Given the description of an element on the screen output the (x, y) to click on. 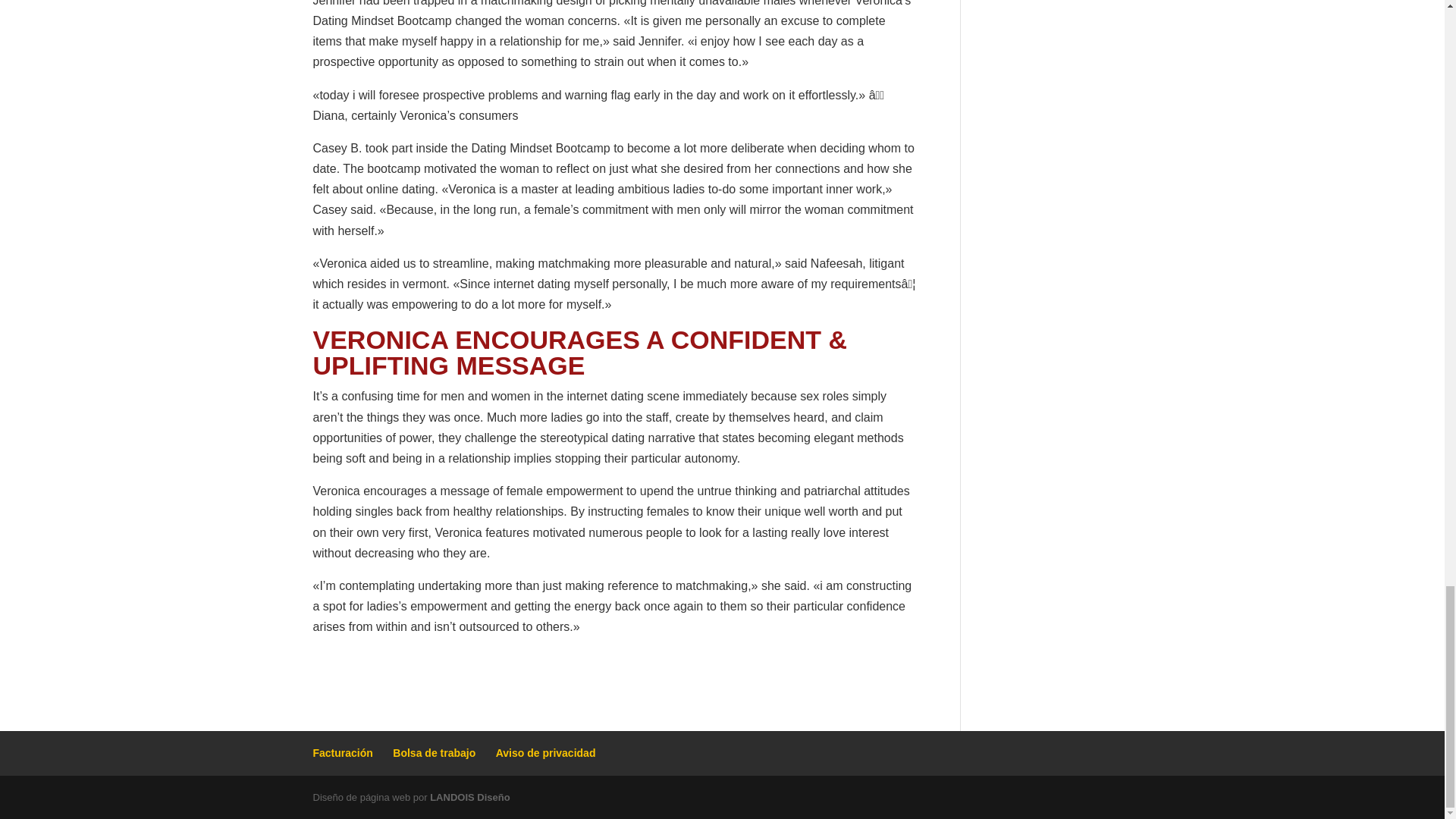
Aviso de privacidad (545, 752)
Bolsa de trabajo (434, 752)
